Given the description of an element on the screen output the (x, y) to click on. 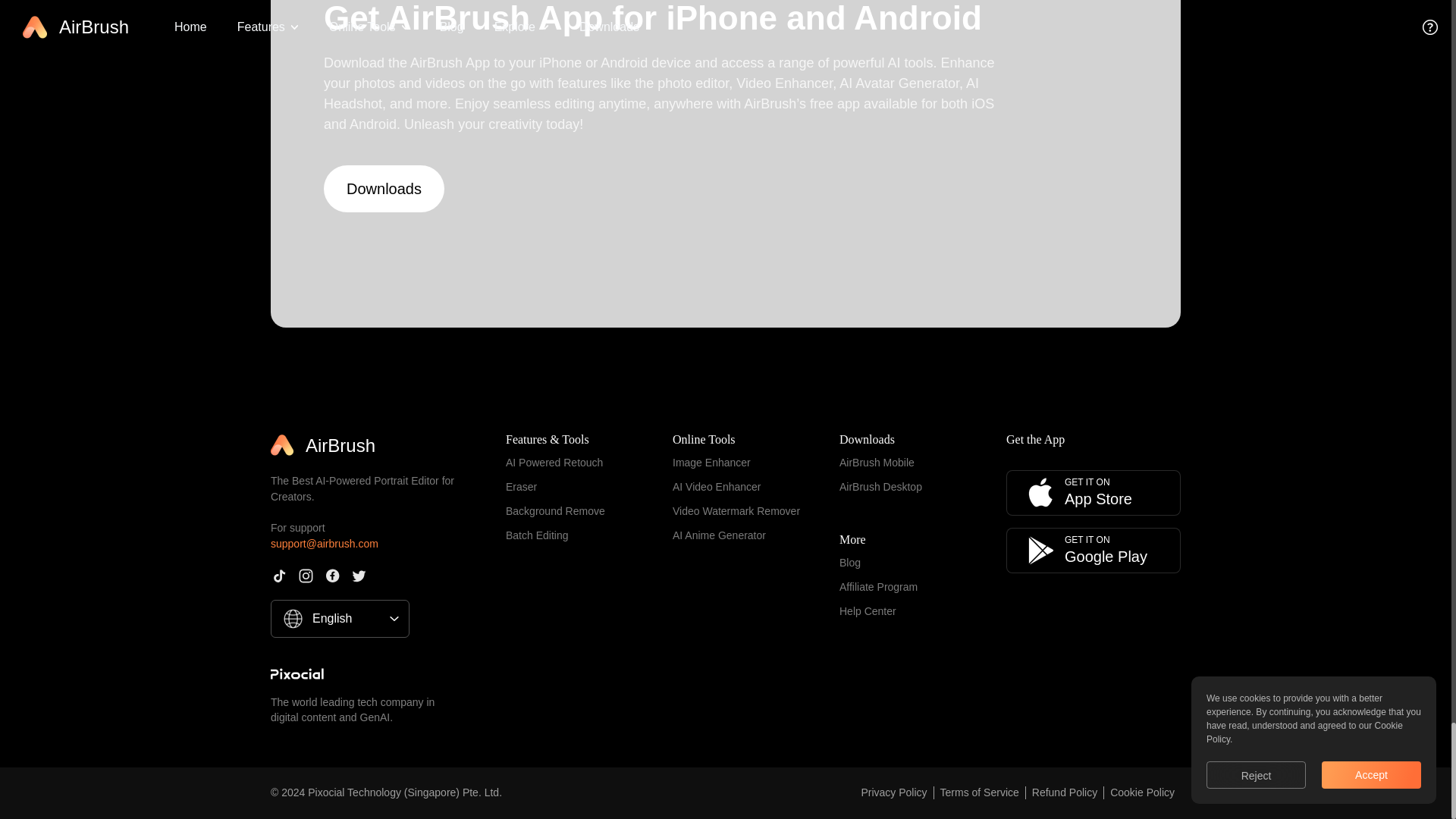
Get AirBrush App for iPhone and Android (661, 19)
Instagram (305, 575)
Downloads (383, 188)
Facebook (331, 575)
Twitter (359, 575)
Downloads (383, 188)
TikTok (279, 575)
